Given the description of an element on the screen output the (x, y) to click on. 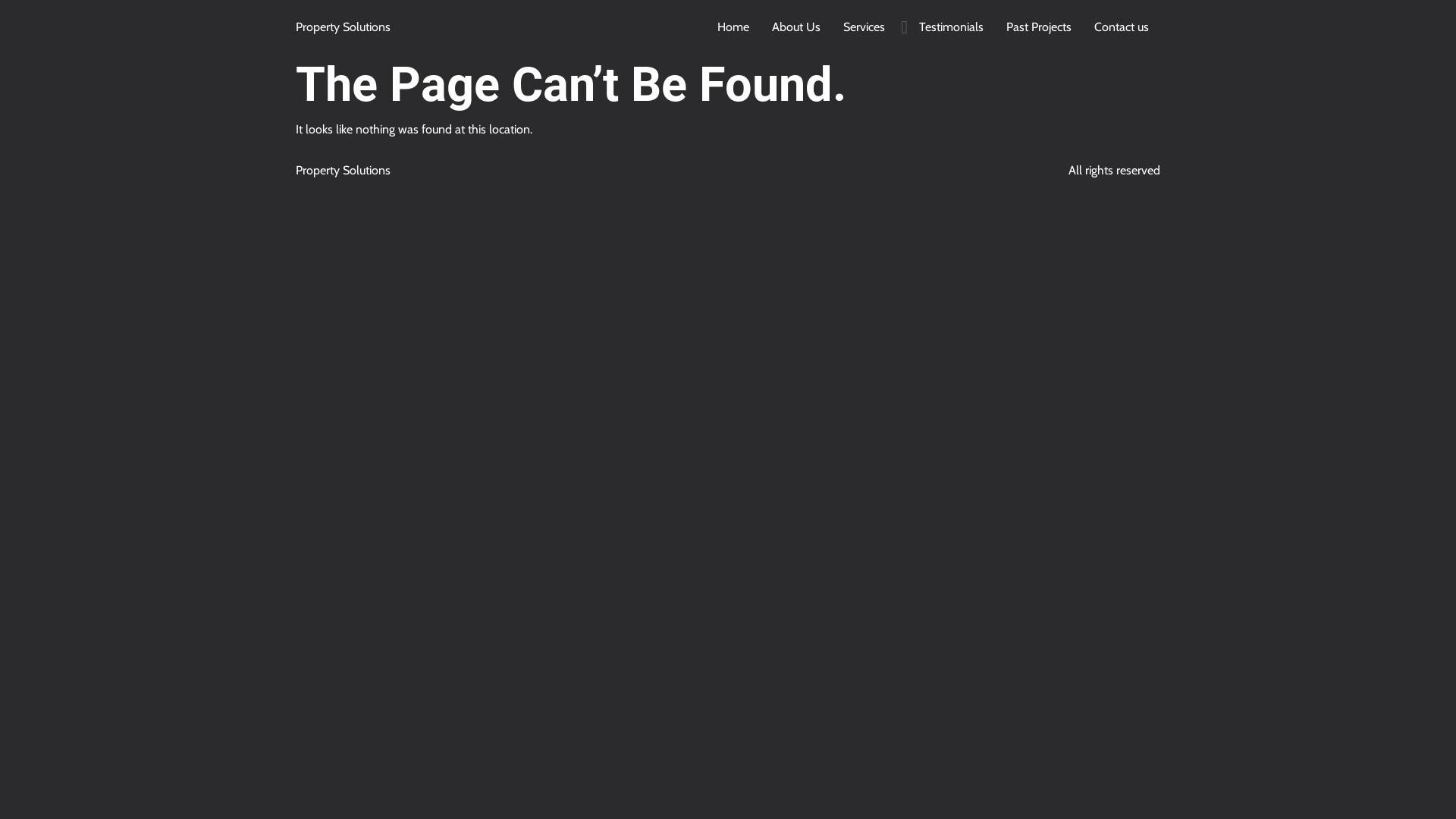
Testimonials Element type: text (950, 27)
Services Element type: text (863, 27)
Contact us Element type: text (1121, 27)
Past Projects Element type: text (1038, 27)
About Us Element type: text (795, 27)
Home Element type: text (733, 27)
